Given the description of an element on the screen output the (x, y) to click on. 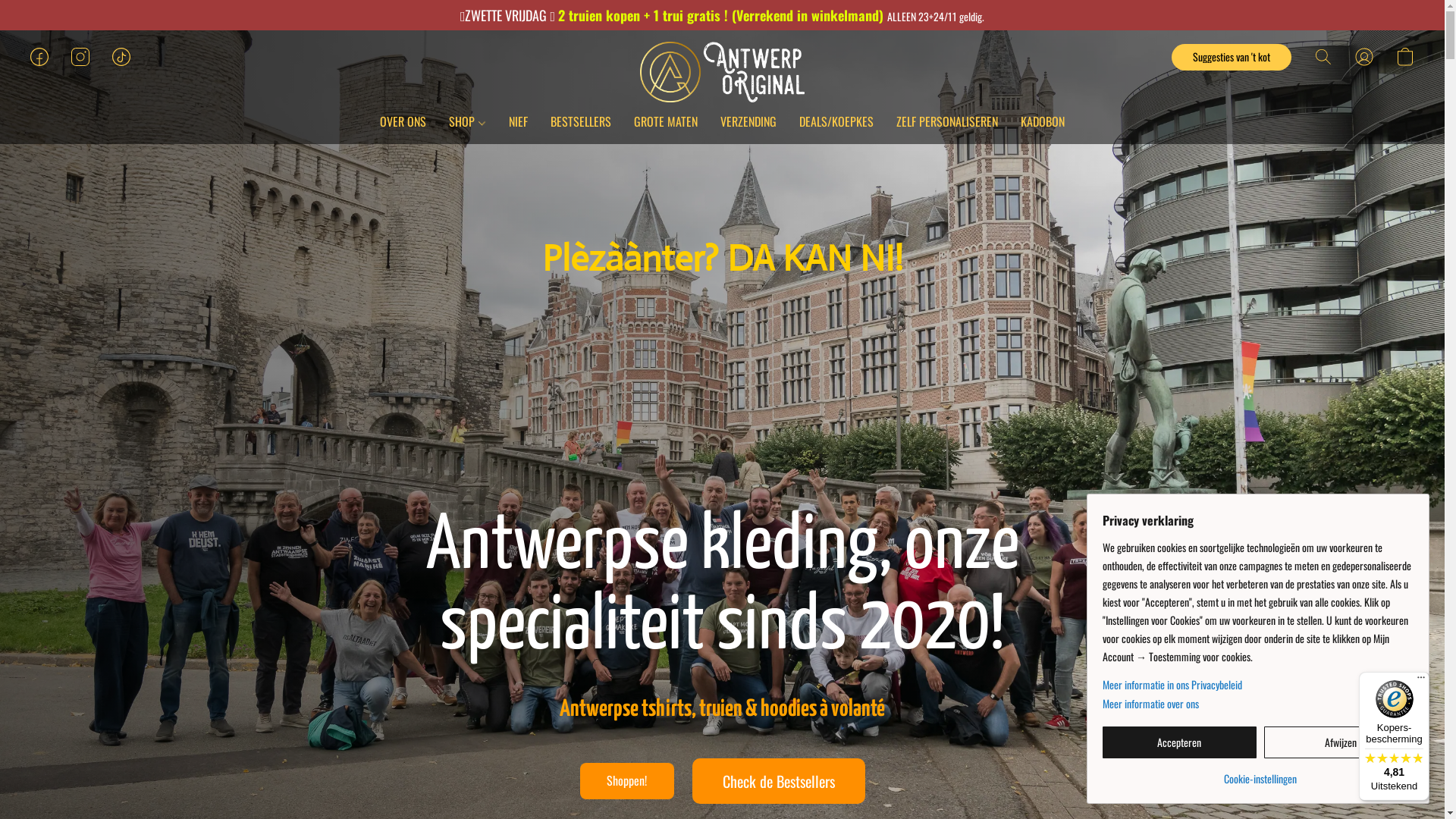
Afwijzen Element type: text (1340, 742)
DEALS/KOEPKES Element type: text (835, 120)
Meer informatie over ons Element type: text (1259, 703)
Shoppen! Element type: text (626, 780)
Ga naar winkelwagen Element type: hover (1404, 56)
Cookie-instellingen Element type: text (1259, 772)
GROTE MATEN Element type: text (665, 120)
Suggesties van 't kot Element type: text (1231, 56)
Check de Bestsellers Element type: text (777, 780)
KADOBON Element type: text (1036, 120)
OVER ONS Element type: text (408, 120)
Accepteren Element type: text (1179, 742)
Zoeken op website Element type: hover (1322, 56)
Meer informatie in ons Privacybeleid Element type: text (1259, 684)
NIEF Element type: text (518, 120)
BESTSELLERS Element type: text (580, 120)
VERZENDING Element type: text (748, 120)
ZELF PERSONALISEREN Element type: text (946, 120)
SHOP Element type: text (466, 120)
